Given the description of an element on the screen output the (x, y) to click on. 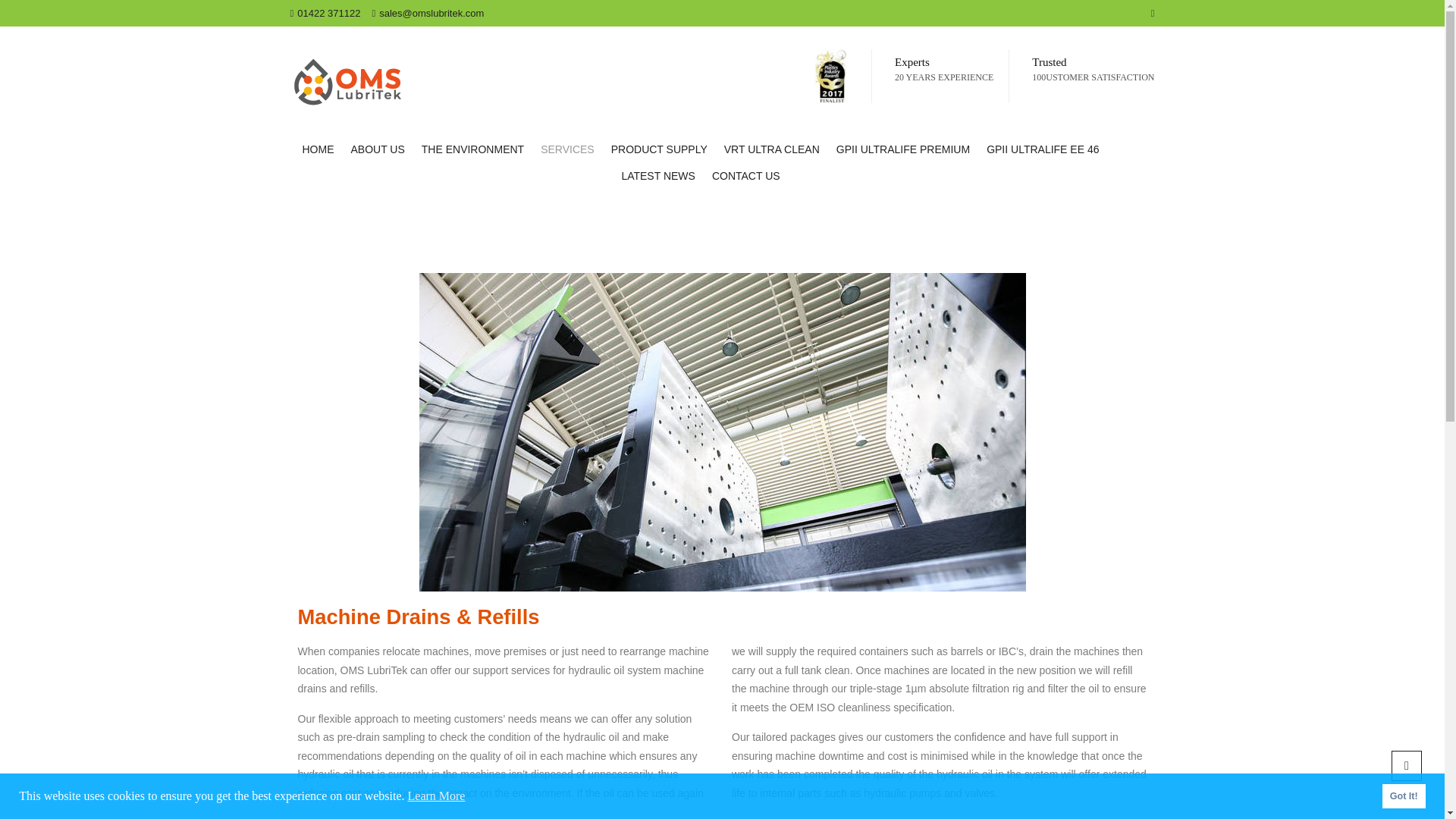
Got It! (1403, 795)
Learn More (436, 795)
GPII ULTRALIFE PREMIUM (903, 149)
LATEST NEWS (657, 175)
CONTACT US (746, 175)
PRODUCT SUPPLY (659, 149)
01422 371122 (324, 12)
VRT ULTRA CLEAN (772, 149)
HOME (318, 149)
THE ENVIRONMENT (472, 149)
